Given the description of an element on the screen output the (x, y) to click on. 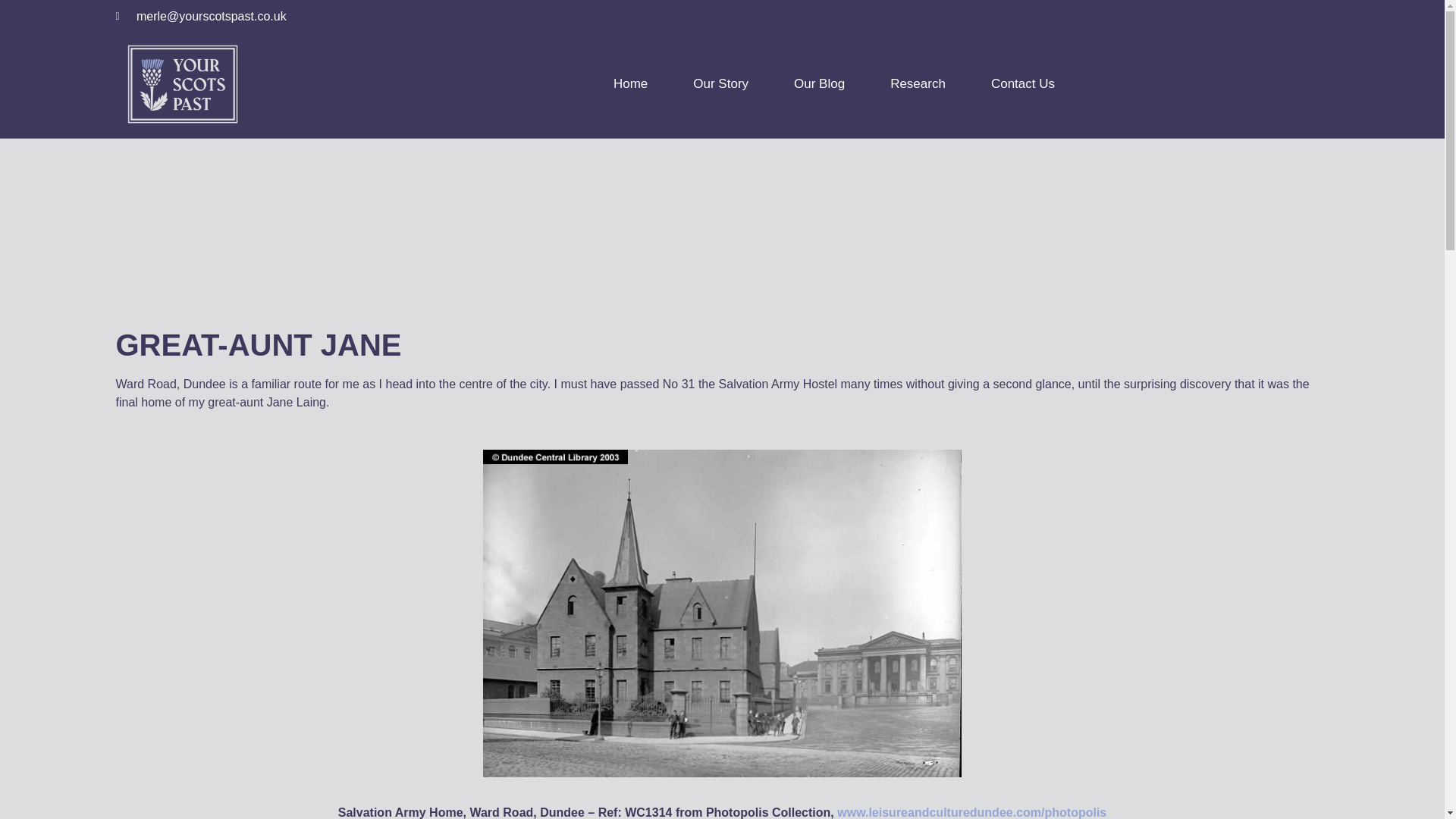
Our Blog (819, 84)
Research (917, 84)
Our Story (720, 84)
Home (630, 84)
Contact Us (1022, 84)
